Given the description of an element on the screen output the (x, y) to click on. 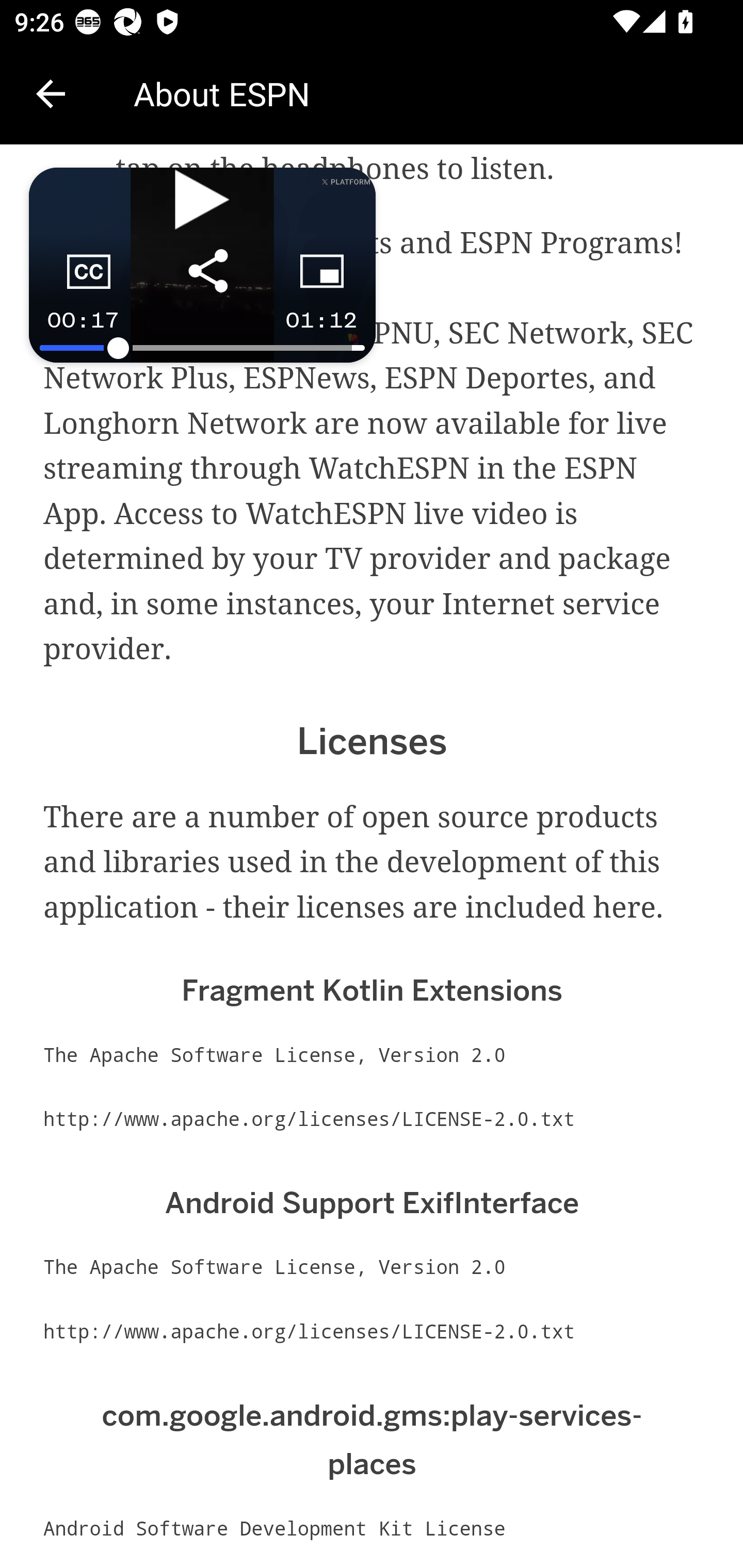
Navigate up (50, 93)
